Given the description of an element on the screen output the (x, y) to click on. 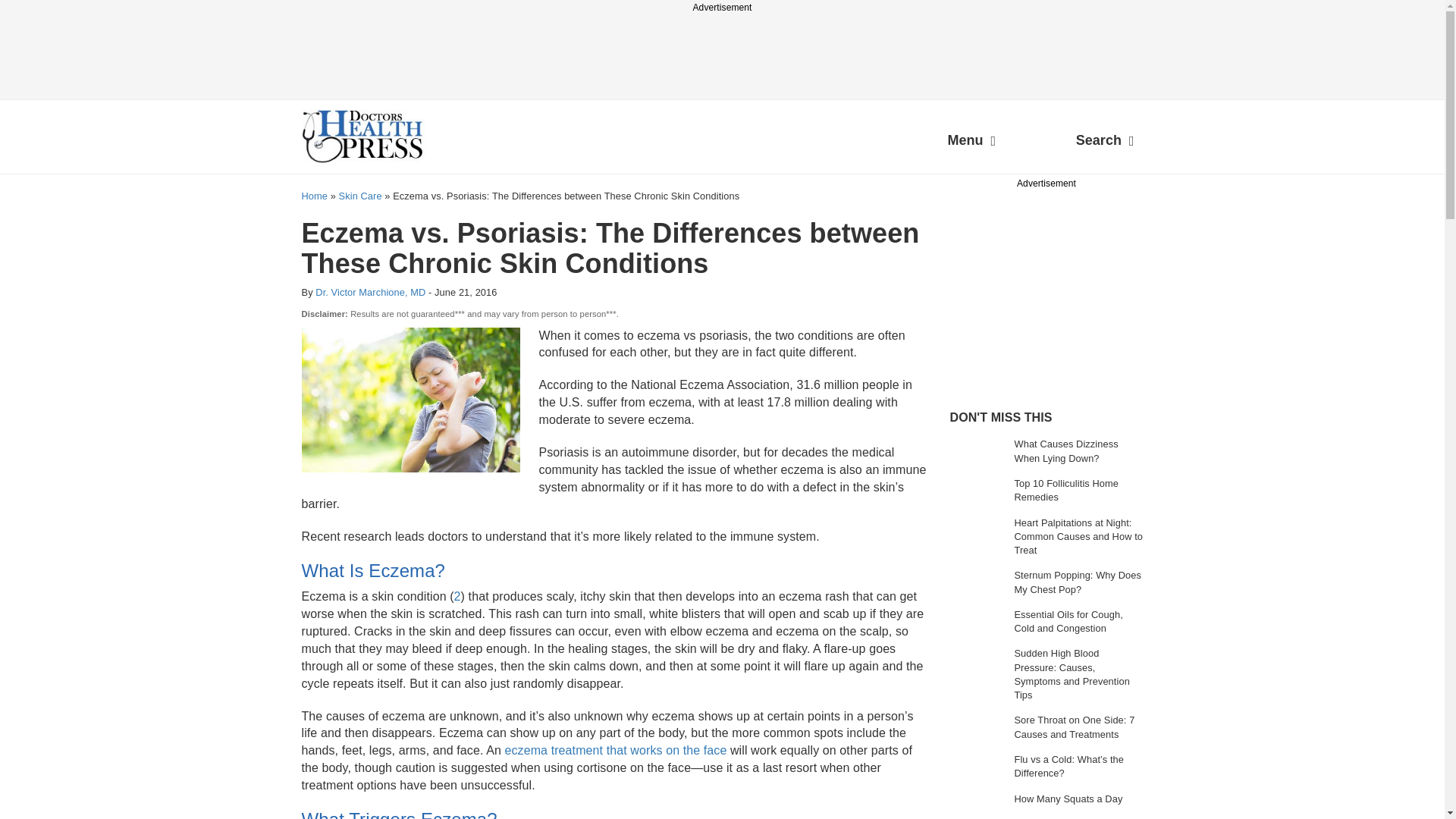
Menu (970, 142)
Posts by Dr. Victor Marchione, MD (370, 292)
Search (1104, 142)
